Given the description of an element on the screen output the (x, y) to click on. 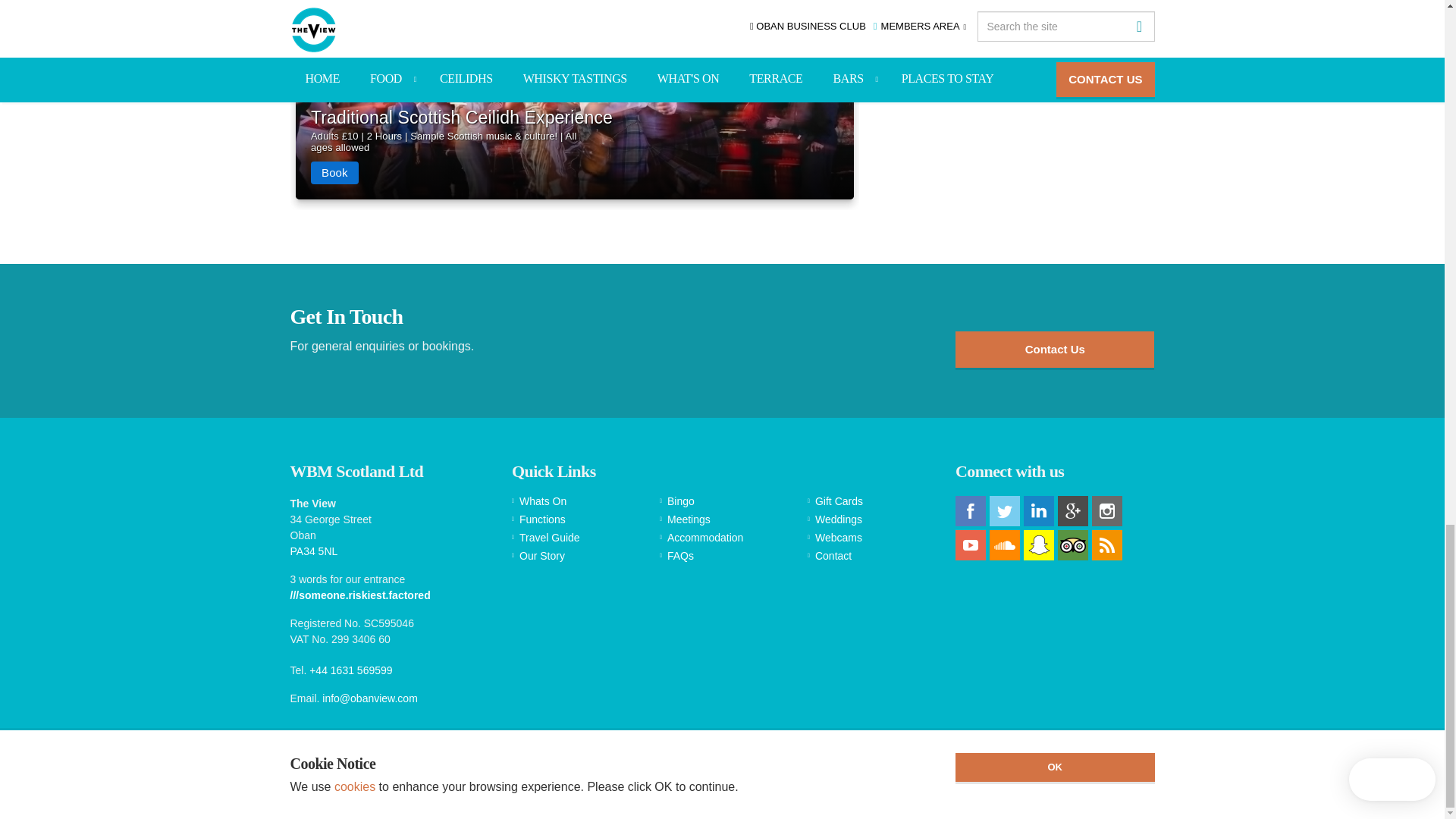
FareHarbor (574, 132)
Contact Us (1054, 348)
PA34 5NL (313, 551)
Whats On (574, 501)
